Given the description of an element on the screen output the (x, y) to click on. 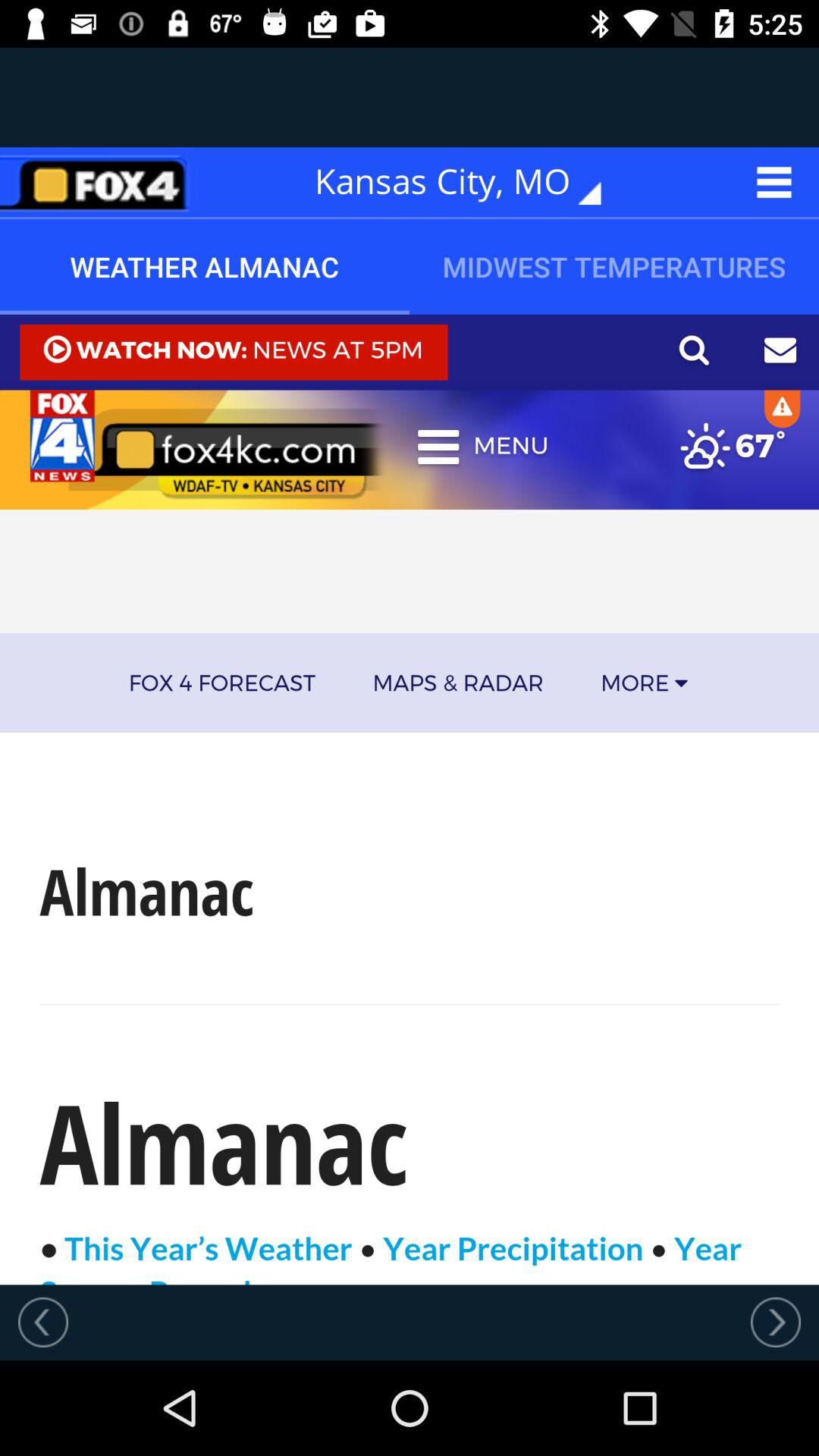
go back (43, 1322)
